Given the description of an element on the screen output the (x, y) to click on. 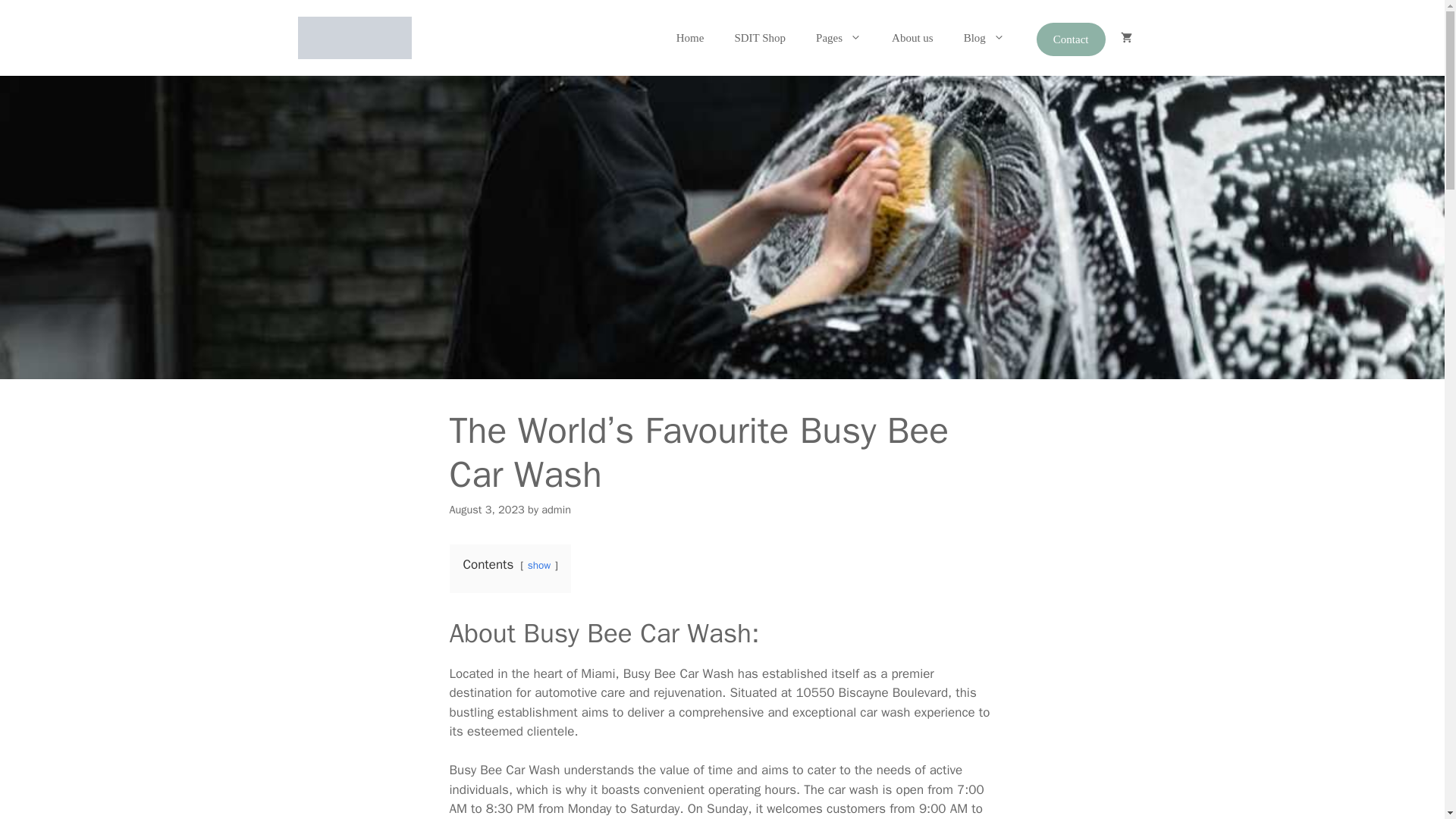
View your shopping cart (1126, 37)
Home (690, 37)
Pages (838, 37)
About us (912, 37)
Contact (1070, 39)
Blog (984, 37)
View all posts by admin (555, 509)
SDIT Shop (759, 37)
